Given the description of an element on the screen output the (x, y) to click on. 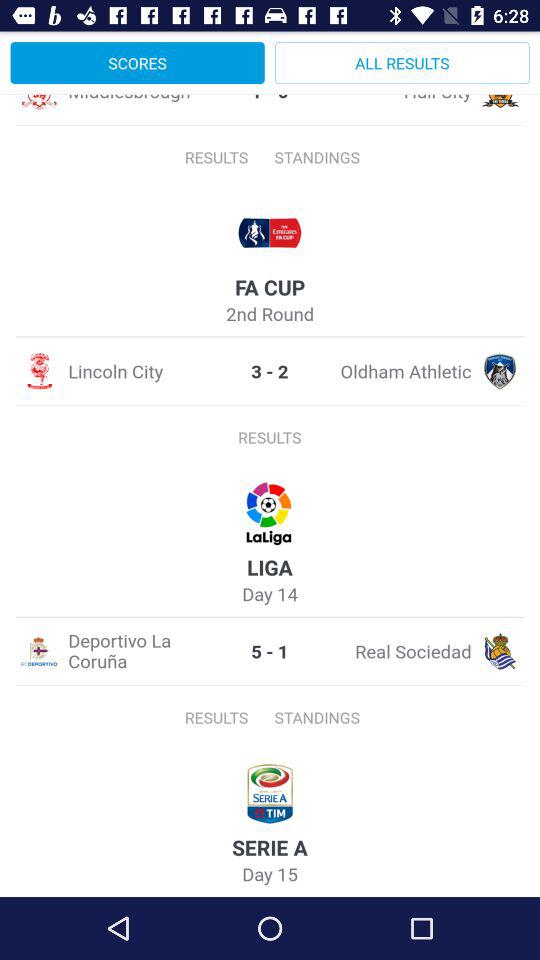
tap the scores icon (137, 62)
